Given the description of an element on the screen output the (x, y) to click on. 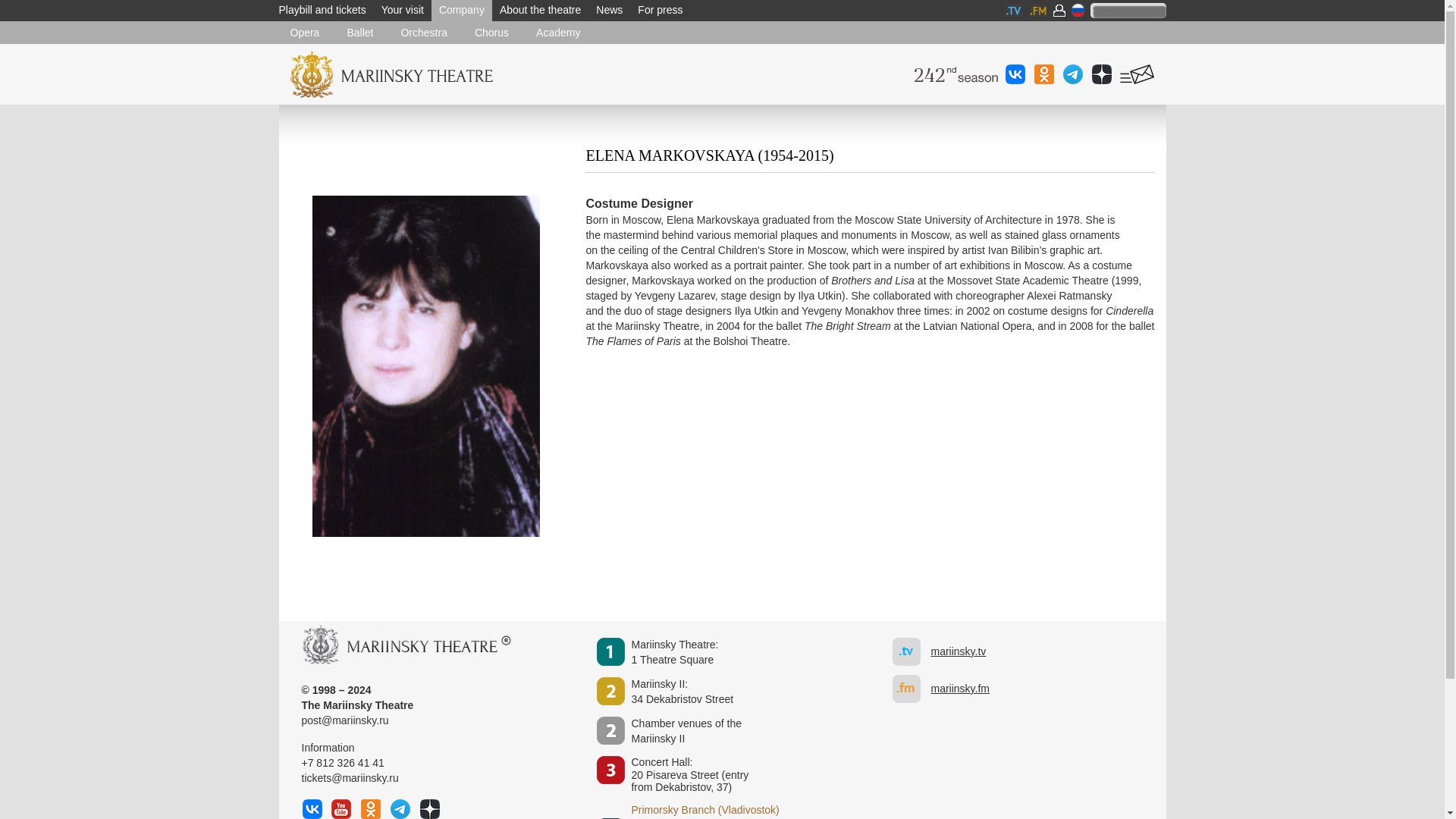
Academy (557, 32)
About the theatre (540, 10)
Company (681, 692)
About the theatre (461, 10)
Chorus (540, 10)
Your visit (491, 32)
News (402, 10)
Playbill and tickets (609, 10)
